Given the description of an element on the screen output the (x, y) to click on. 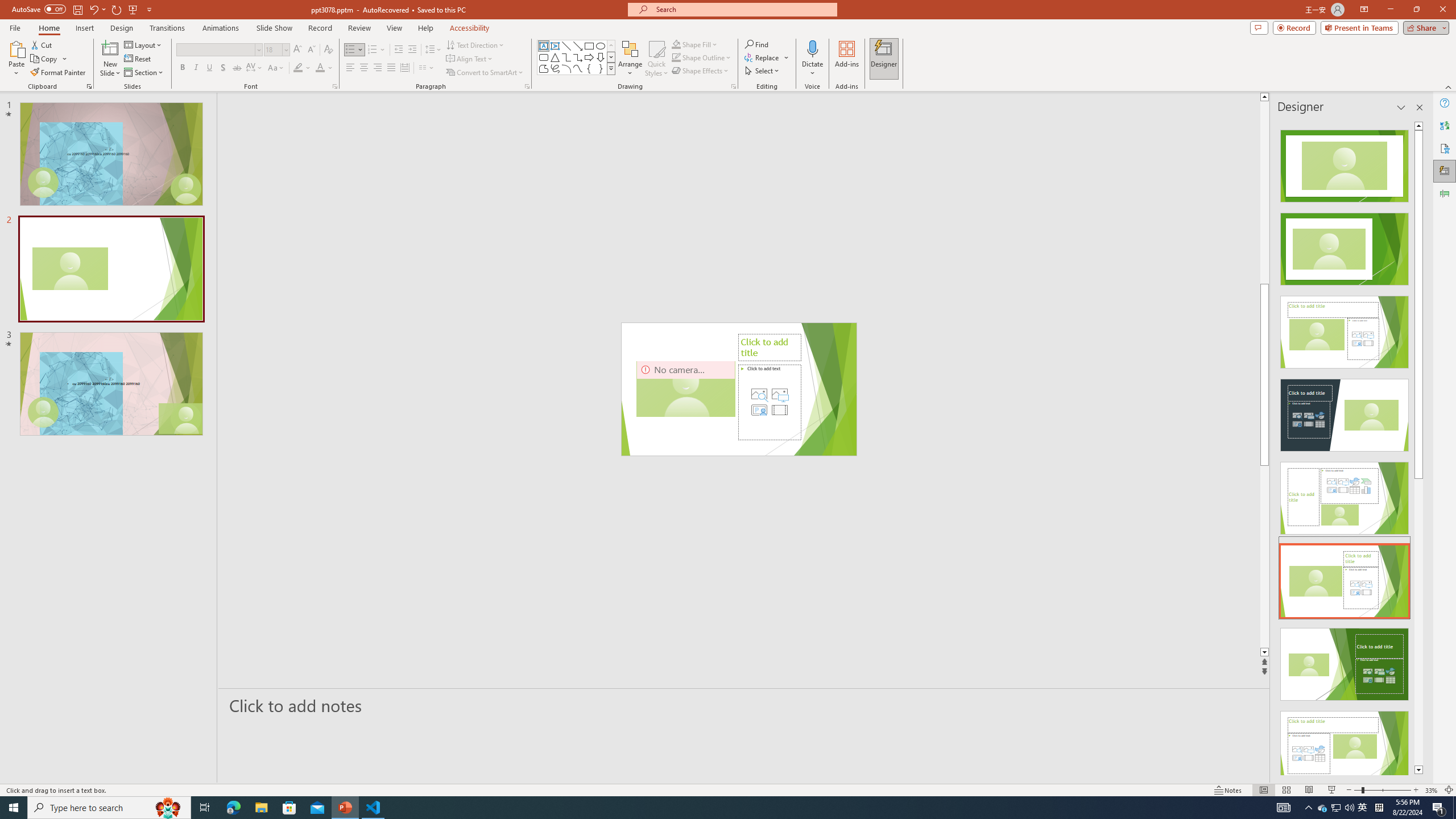
Shape Fill Dark Green, Accent 2 (675, 44)
Shape Effects (700, 69)
